Given the description of an element on the screen output the (x, y) to click on. 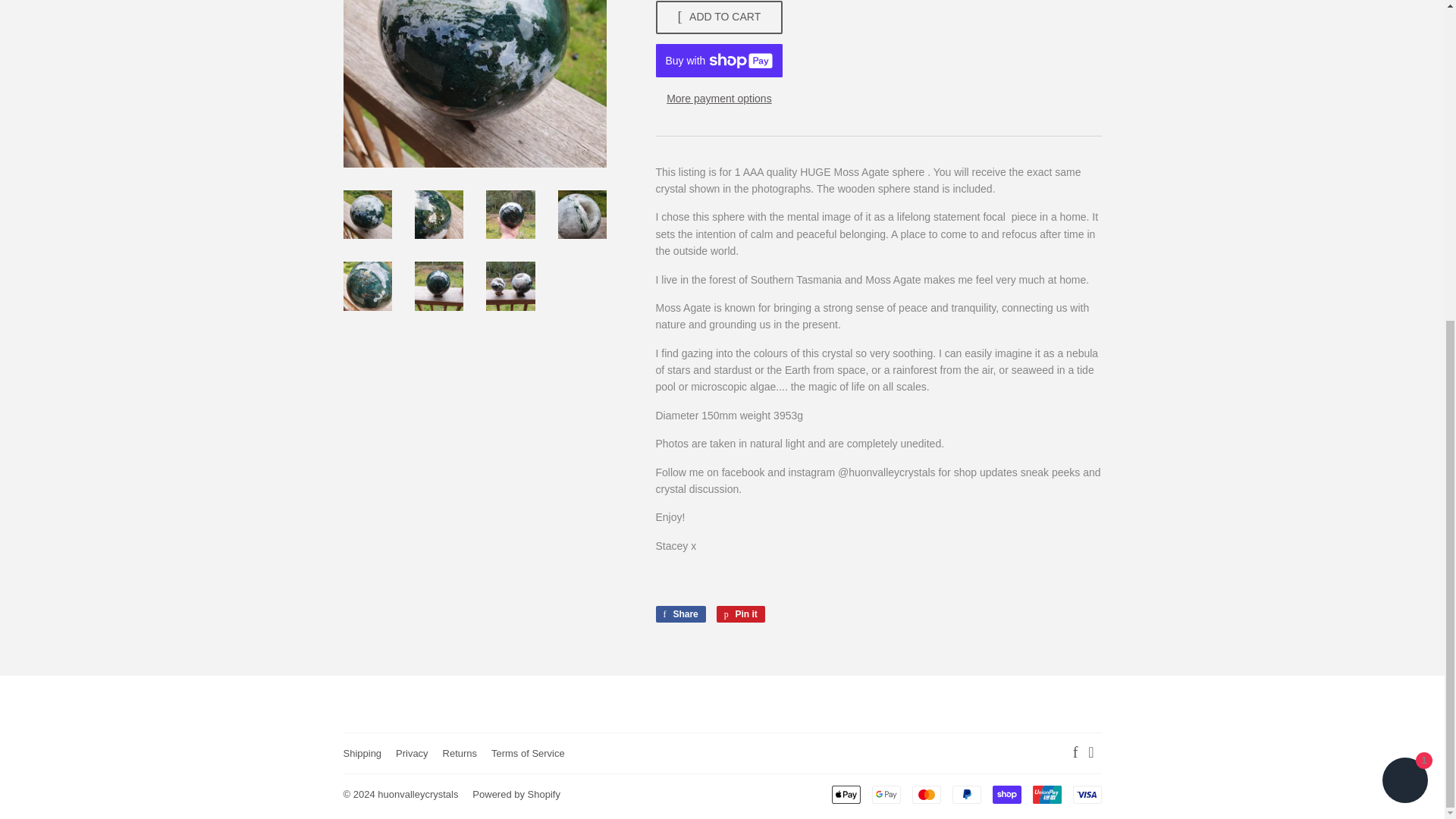
Google Pay (886, 794)
huonvalleycrystals on Instagram (1090, 753)
Powered by Shopify (515, 794)
Visa (1085, 794)
huonvalleycrystals (679, 614)
Share on Facebook (417, 794)
Terms of Service (679, 614)
Shop Pay (528, 753)
Pin on Pinterest (740, 614)
Apple Pay (1005, 794)
Facebook (740, 614)
Privacy (845, 794)
Shipping (1075, 753)
